Given the description of an element on the screen output the (x, y) to click on. 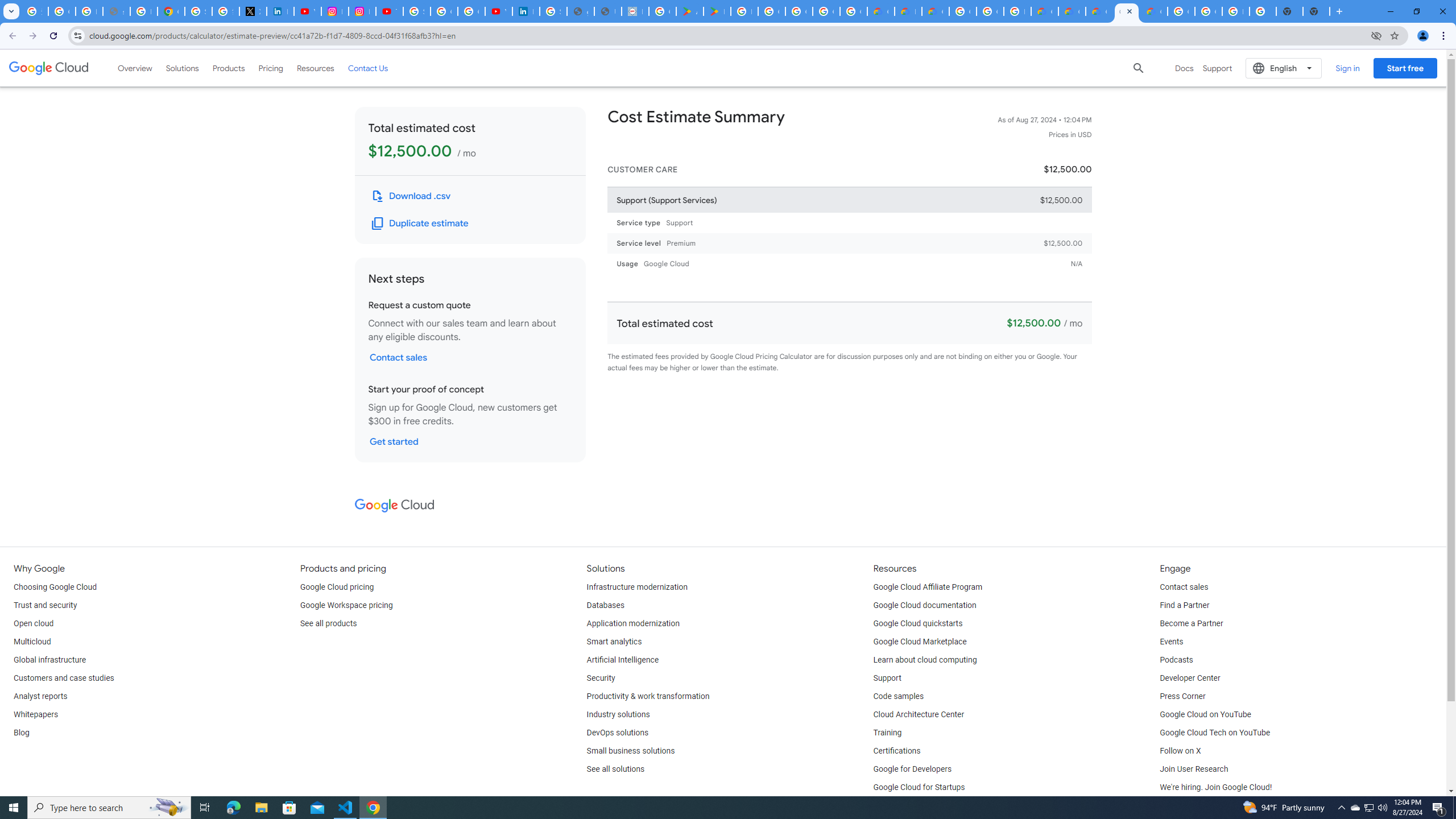
DevOps solutions (617, 732)
PAW Patrol Rescue World - Apps on Google Play (716, 11)
Google for Developers (912, 769)
Code samples (898, 696)
Whitepapers (35, 714)
Google Cloud on YouTube (1204, 714)
Smart analytics (614, 642)
Customer Care | Google Cloud (1044, 11)
Contact sales (1183, 587)
Solutions (181, 67)
Android Apps on Google Play (690, 11)
Press Corner (1181, 696)
